Given the description of an element on the screen output the (x, y) to click on. 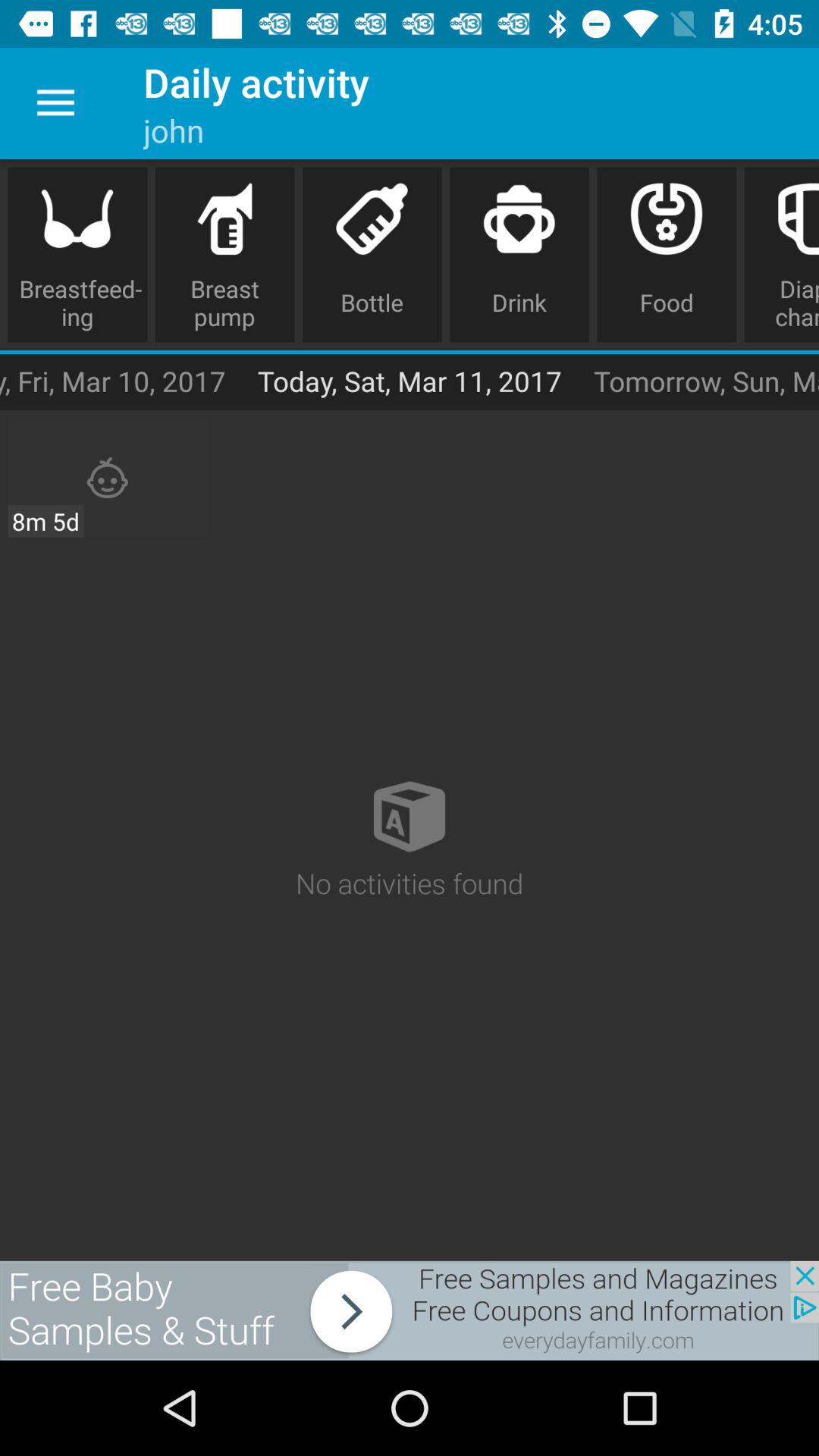
click on drink (518, 254)
click on food along with icon on the top of the web page (666, 254)
